Given the description of an element on the screen output the (x, y) to click on. 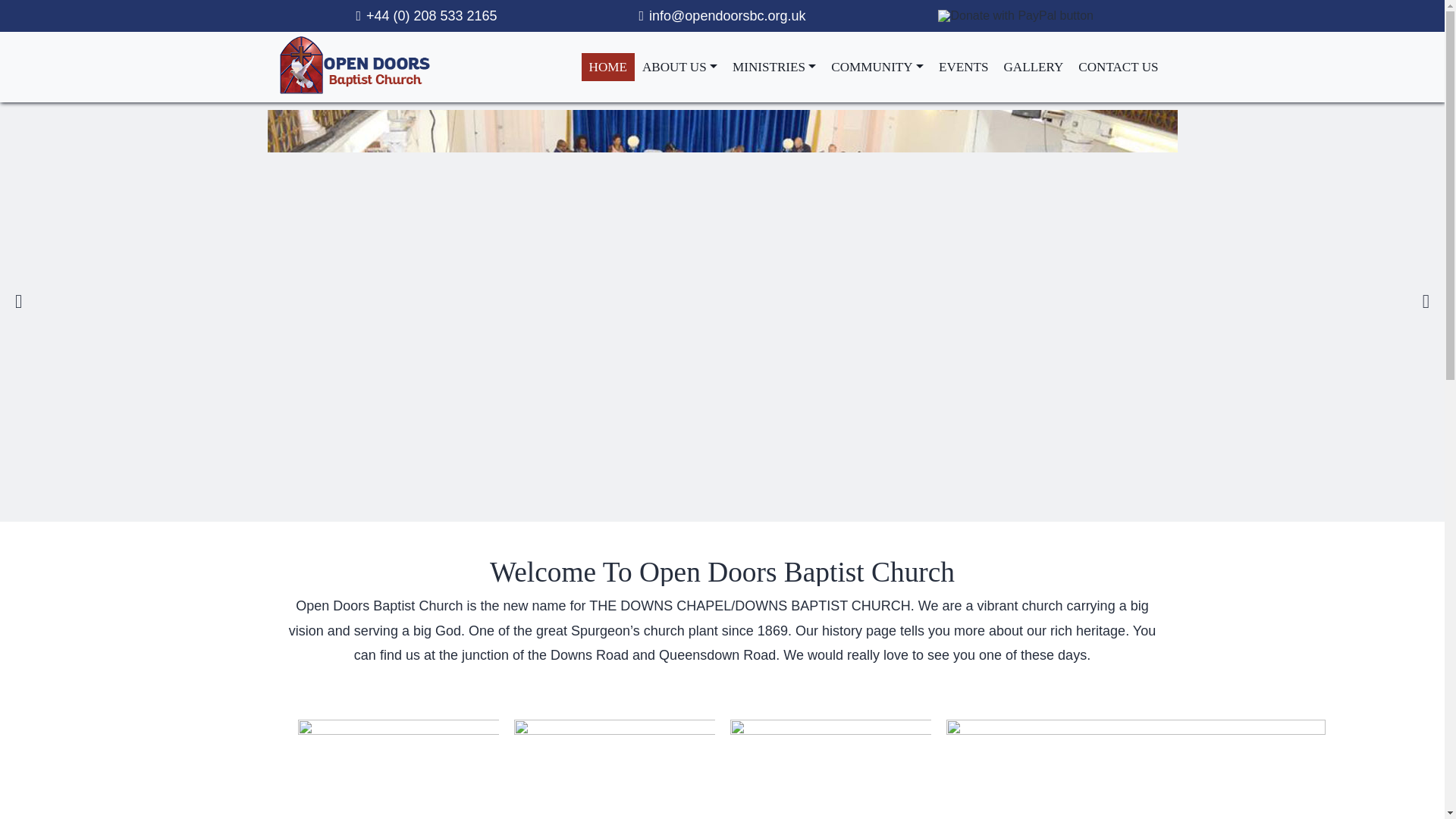
HOME (607, 67)
ABOUT US (679, 67)
EVENTS (963, 67)
CONTACT US (1118, 67)
MINISTRIES (774, 67)
PayPal - The safer, easier way to pay online! (1015, 15)
GALLERY (1033, 67)
COMMUNITY (877, 67)
